Given the description of an element on the screen output the (x, y) to click on. 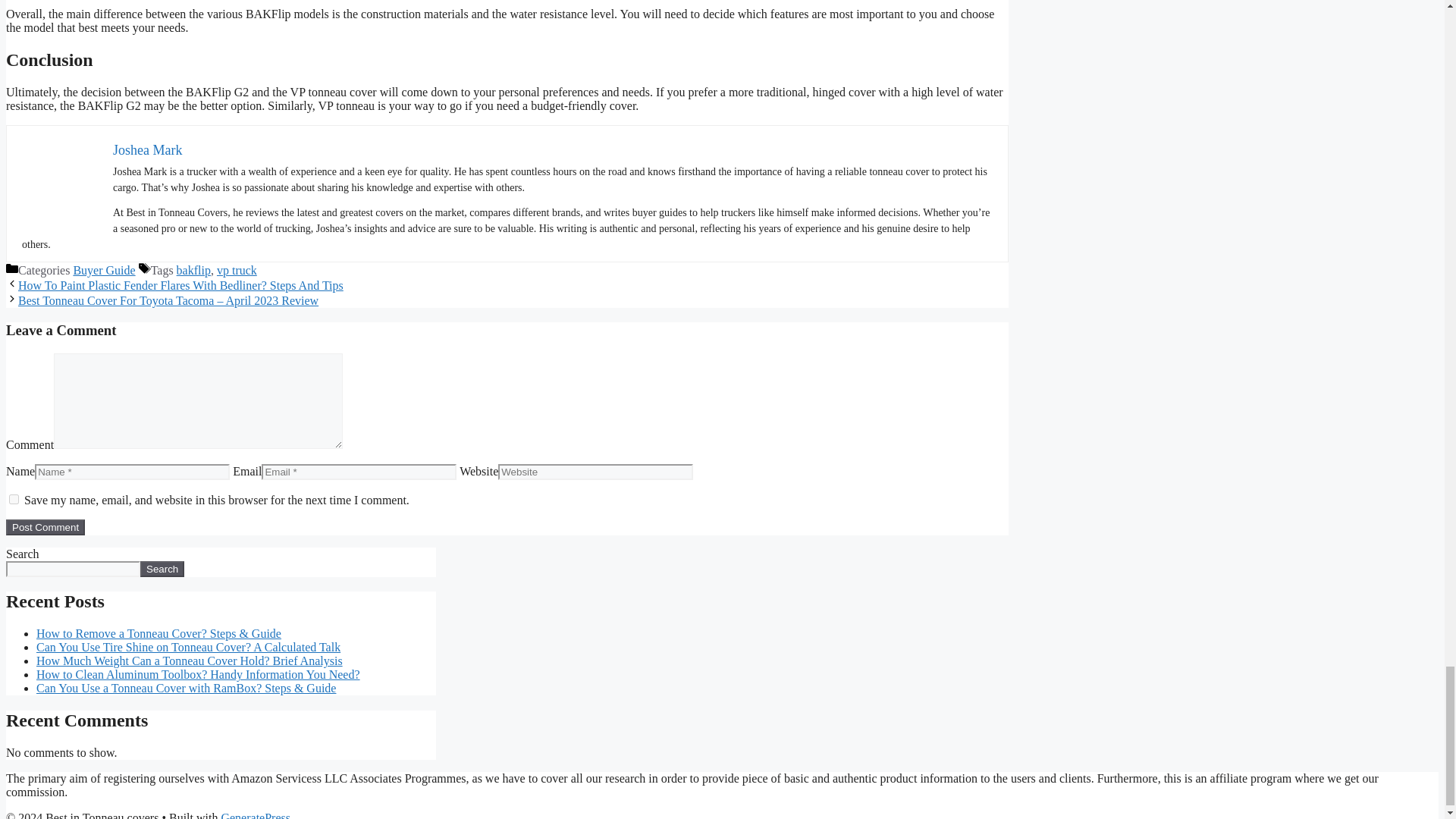
yes (13, 499)
Post Comment (44, 527)
